Given the description of an element on the screen output the (x, y) to click on. 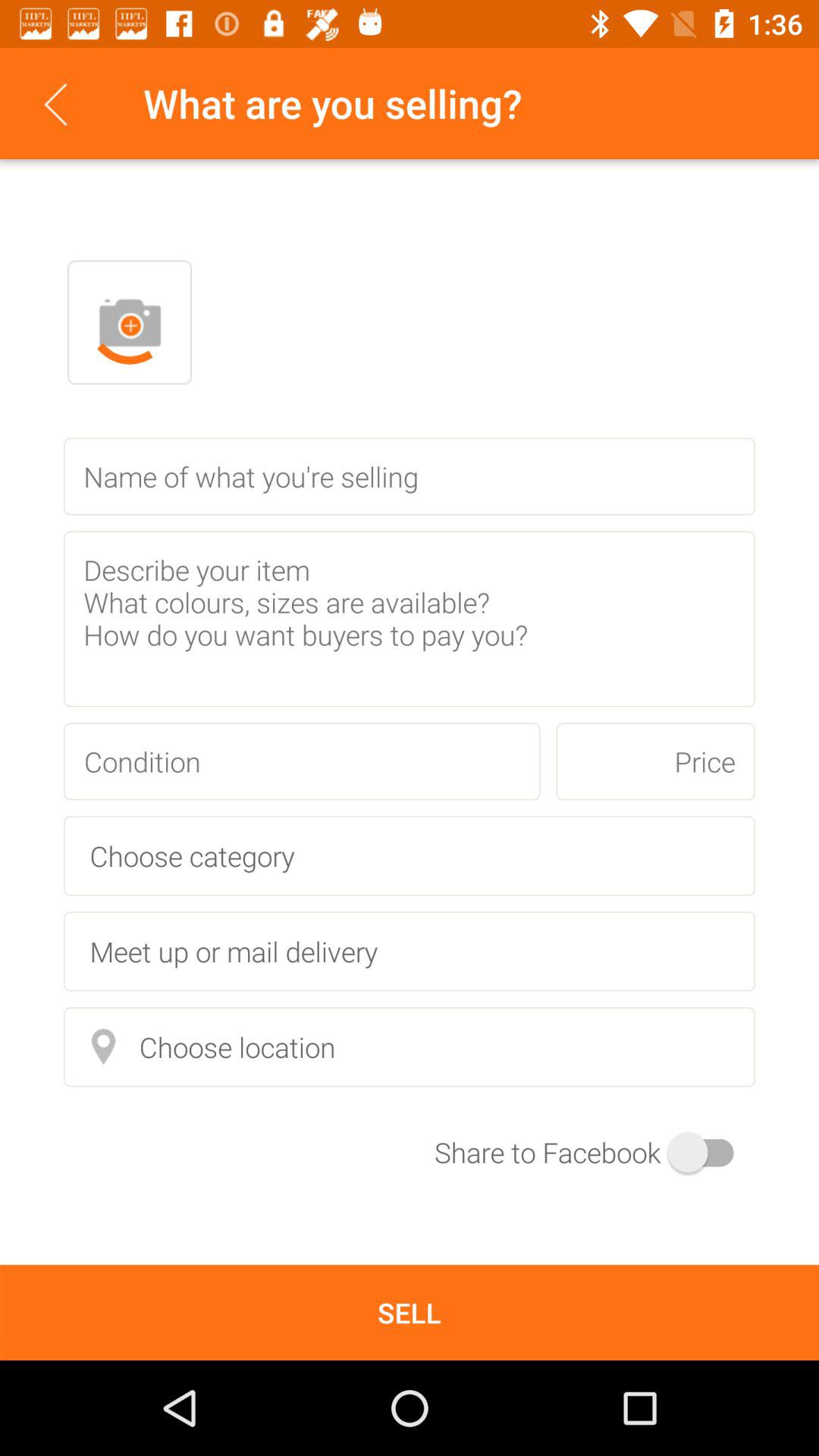
select icon on the right (655, 761)
